Given the description of an element on the screen output the (x, y) to click on. 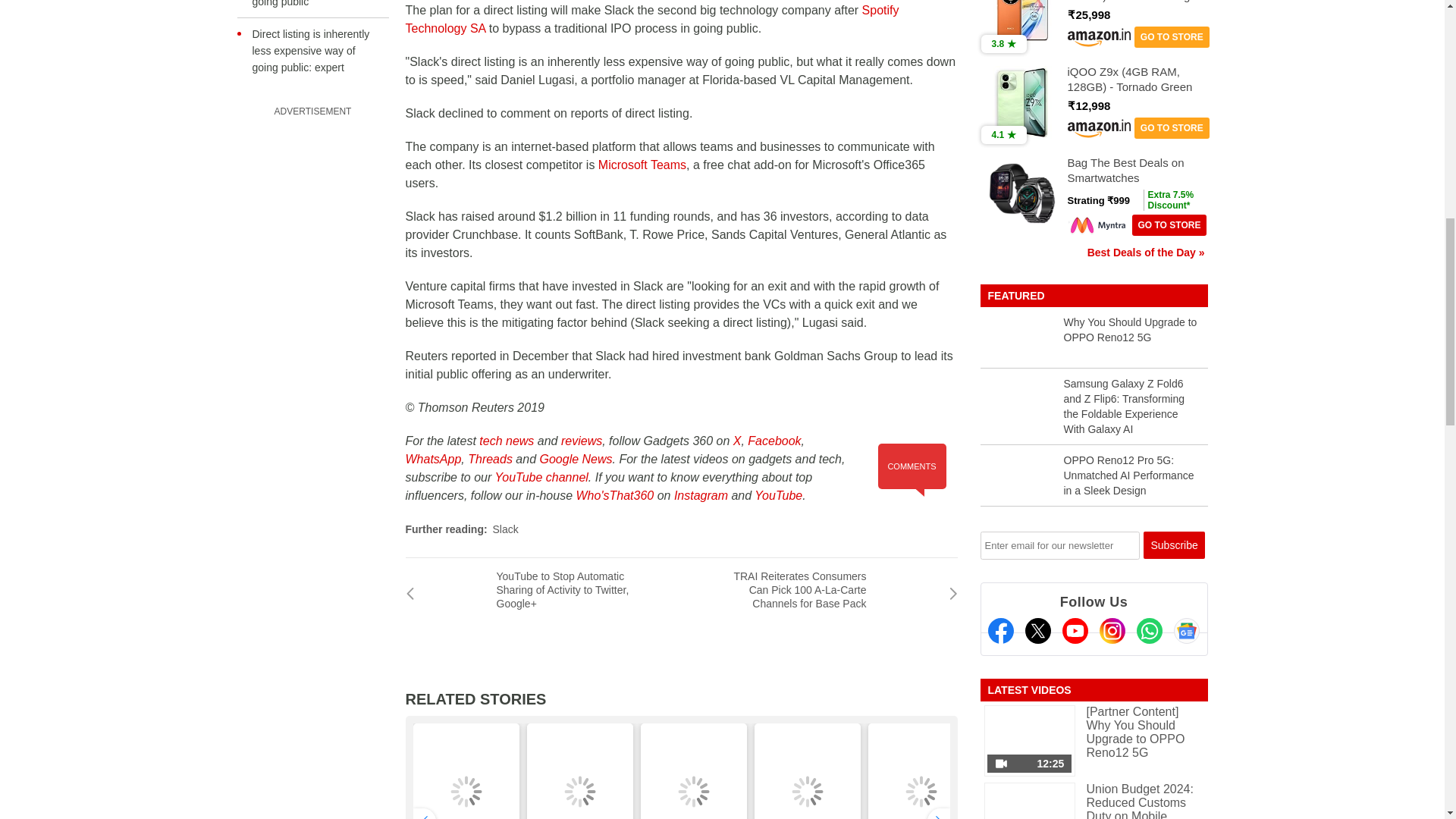
Subscribe (1173, 544)
